Given the description of an element on the screen output the (x, y) to click on. 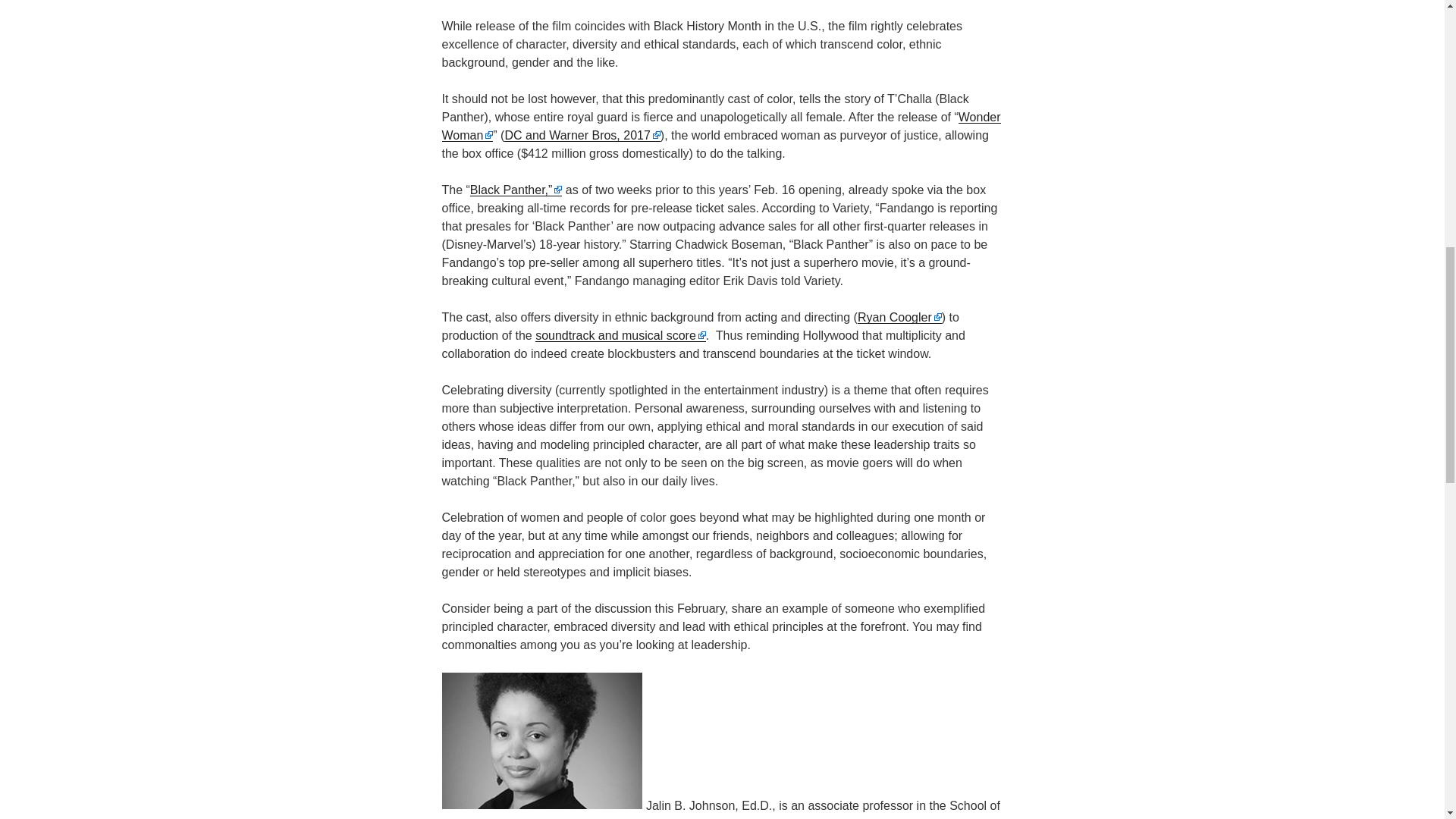
Ryan Coogler (899, 317)
DC and Warner Bros, 2017 (581, 134)
Wonder Woman (720, 125)
soundtrack and musical score (620, 335)
